Given the description of an element on the screen output the (x, y) to click on. 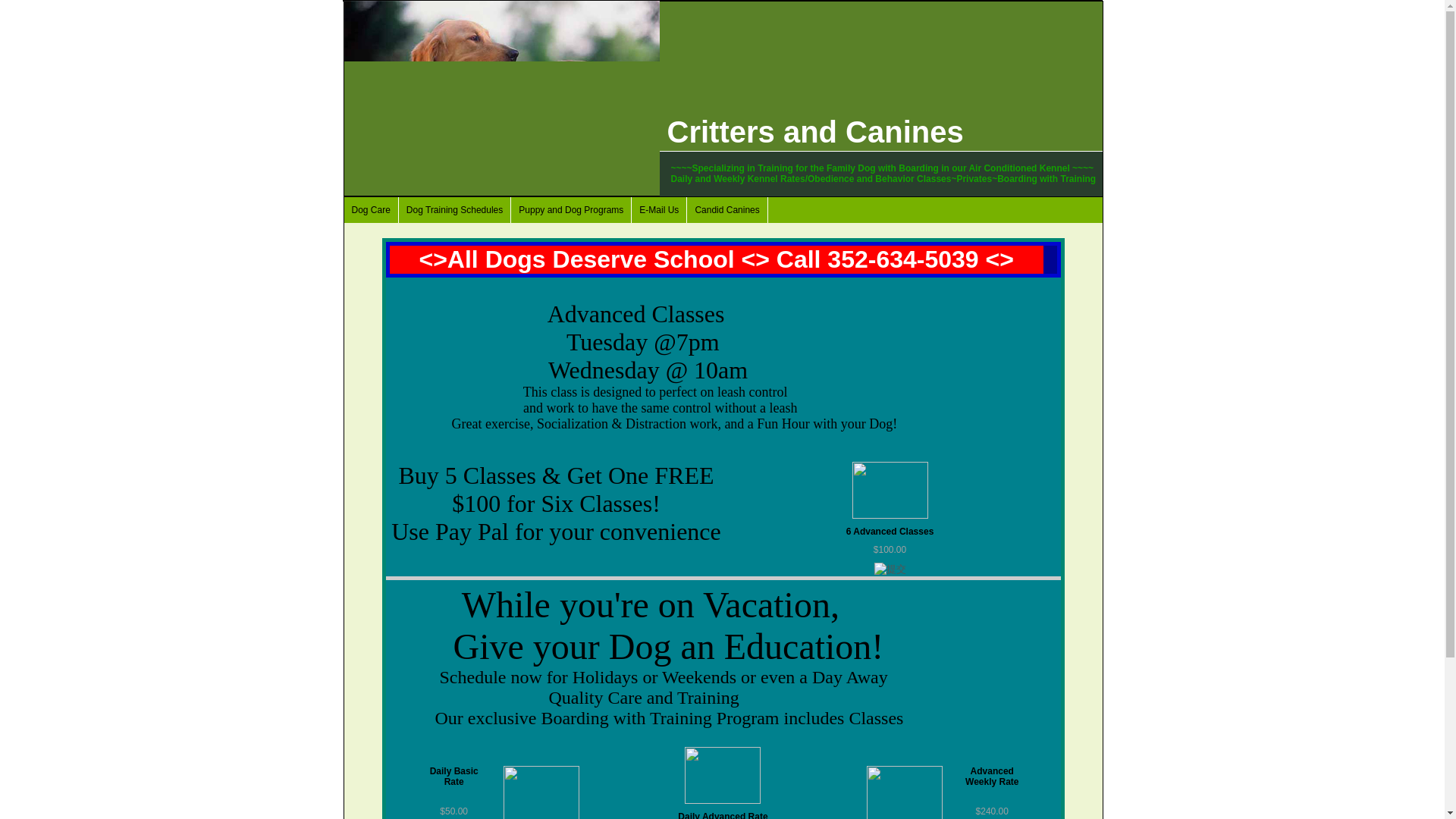
E-Mail Us (659, 209)
Puppy and Dog Programs (571, 209)
Candid Canines (727, 209)
Dog Training Schedules (454, 209)
Dog Care (370, 209)
